Given the description of an element on the screen output the (x, y) to click on. 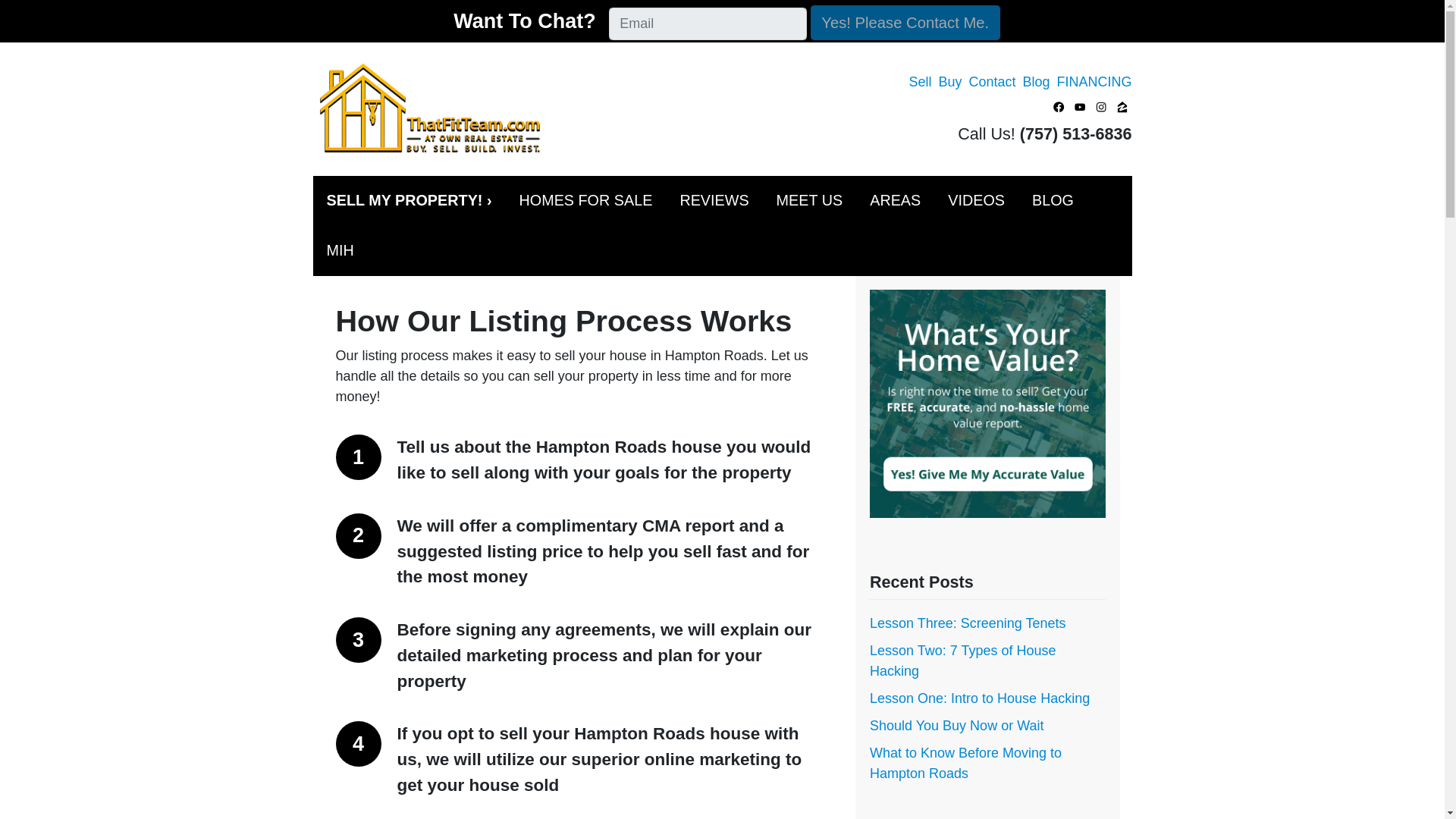
Areas (895, 201)
AREAS (895, 201)
Lesson One: Intro to House Hacking (979, 698)
Meet Us (809, 201)
Want To Chat? (524, 21)
Reviews (713, 201)
Should You Buy Now or Wait (956, 725)
REVIEWS (713, 201)
YouTube (1079, 106)
VIDEOS (975, 201)
